Given the description of an element on the screen output the (x, y) to click on. 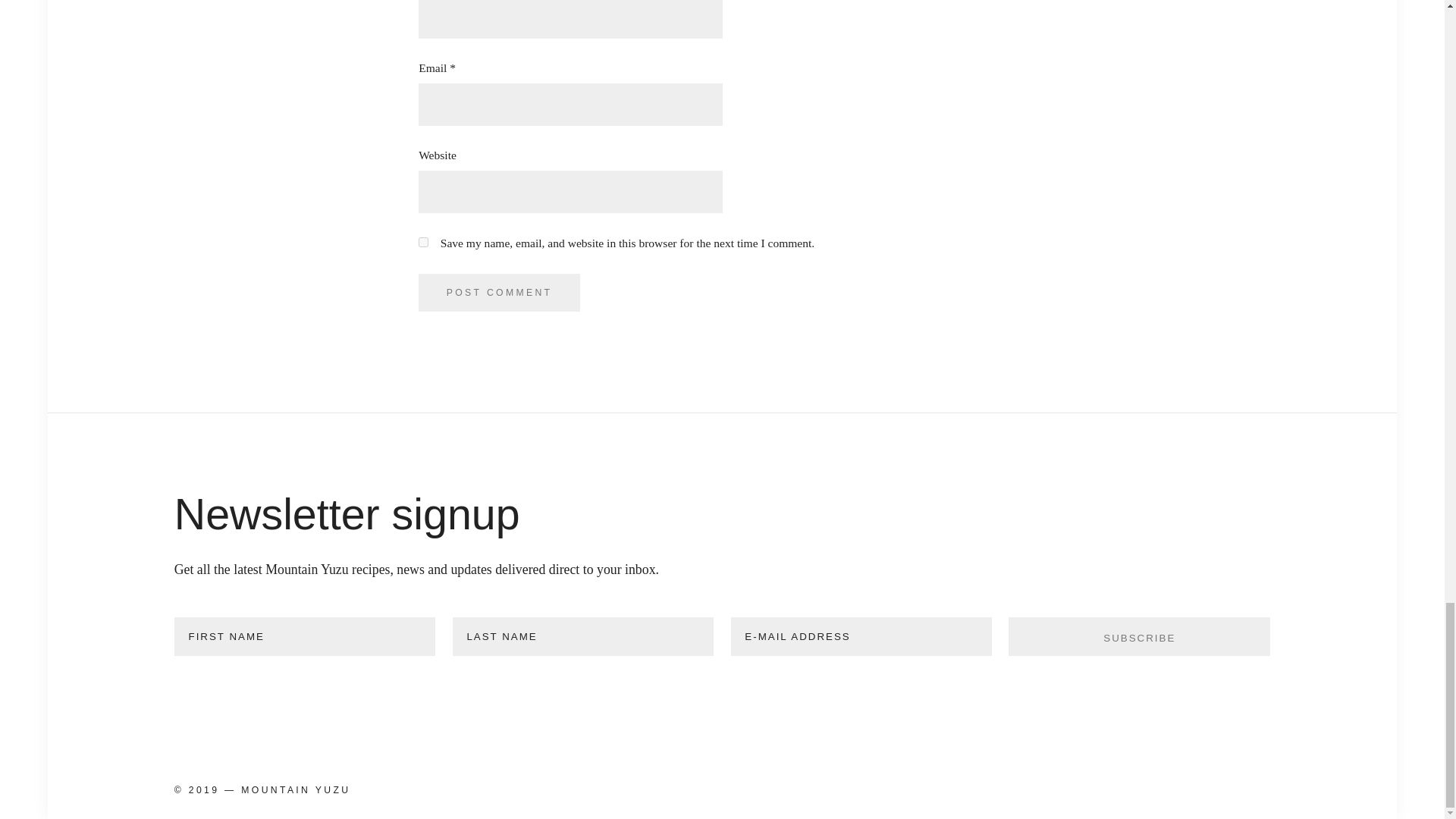
Subscribe (1139, 636)
Post Comment (499, 292)
yes (423, 242)
Post Comment (499, 292)
Subscribe (1139, 636)
